Given the description of an element on the screen output the (x, y) to click on. 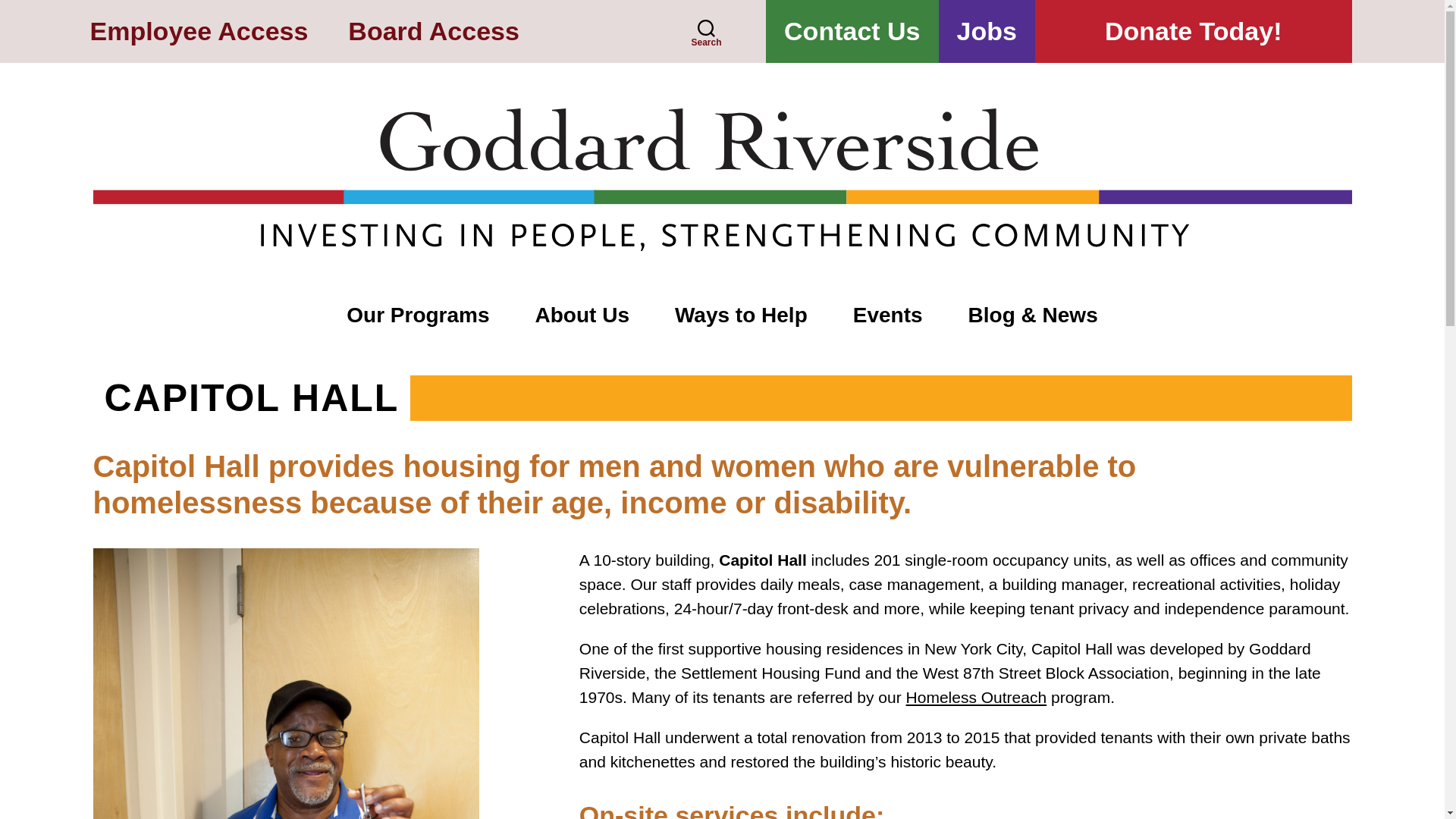
Our Programs (417, 316)
Employee Access (197, 31)
Donate Today! (1193, 31)
Board Access (433, 31)
Contact Us (851, 31)
Jobs (987, 31)
